Given the description of an element on the screen output the (x, y) to click on. 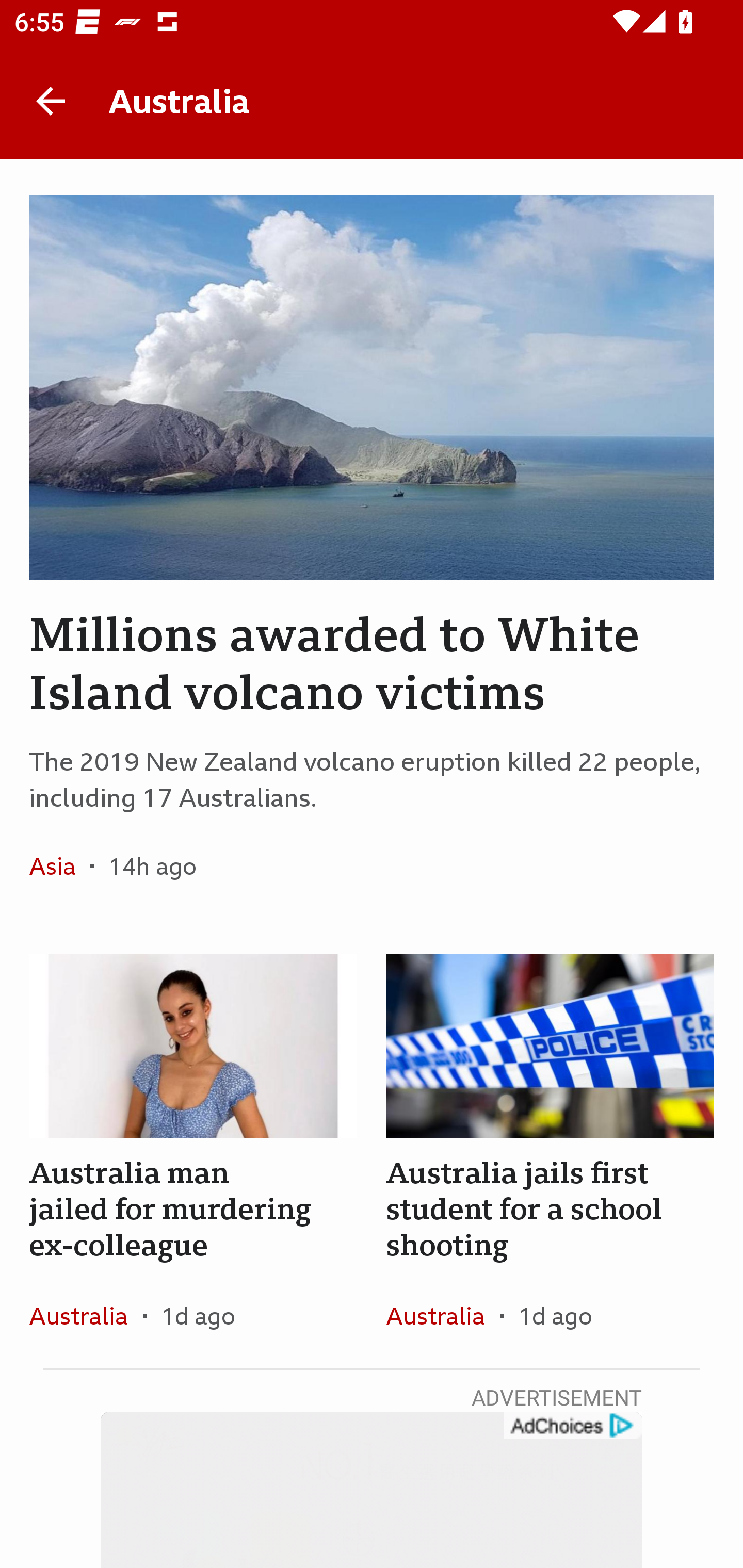
Back (50, 101)
Asia In the section Asia (59, 865)
Australia In the section Australia (85, 1315)
Australia In the section Australia (442, 1315)
Video Player get?name=admarker-full-tl   (371, 1489)
get?name=admarker-full-tl (571, 1425)
